Given the description of an element on the screen output the (x, y) to click on. 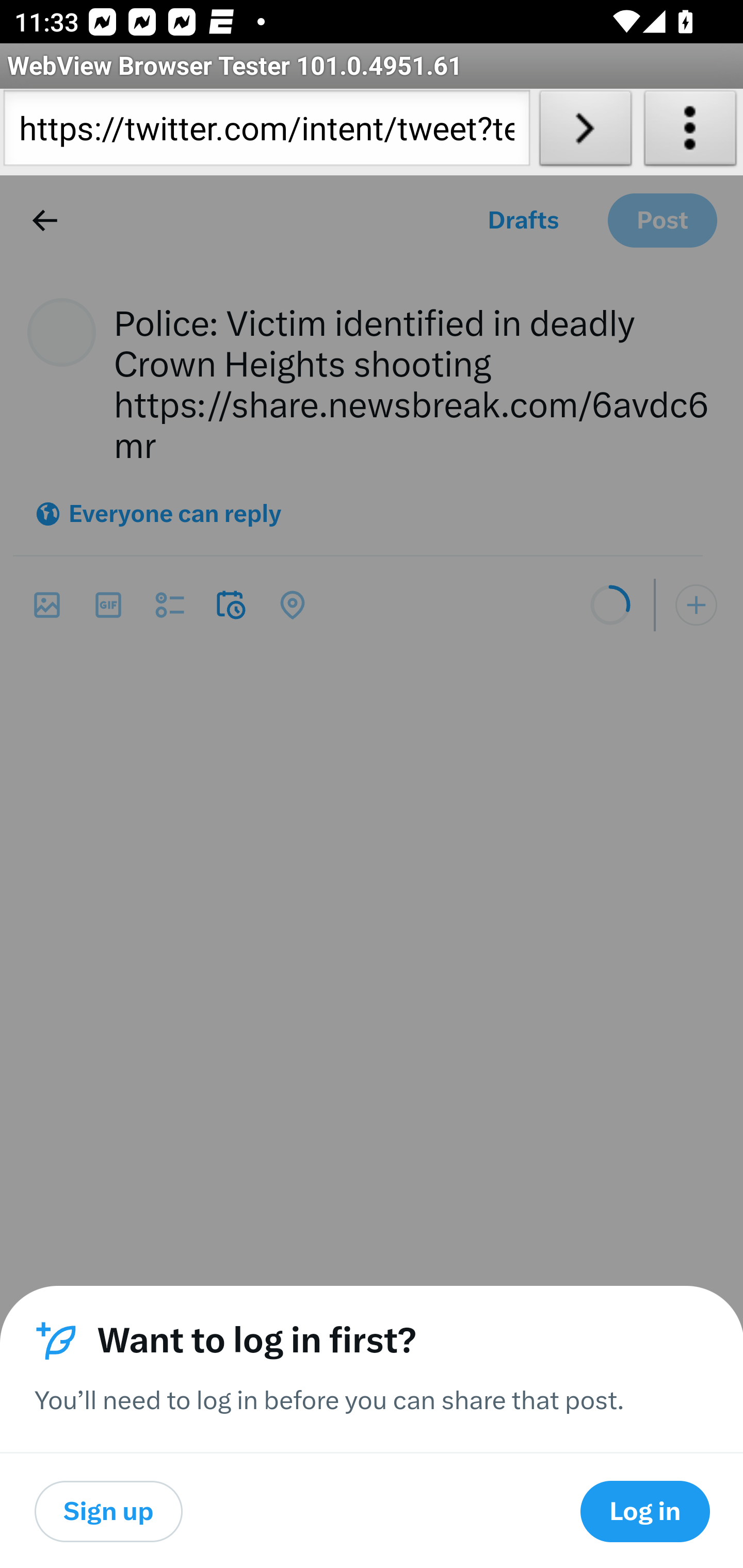
Load URL (585, 132)
About WebView (690, 132)
